Given the description of an element on the screen output the (x, y) to click on. 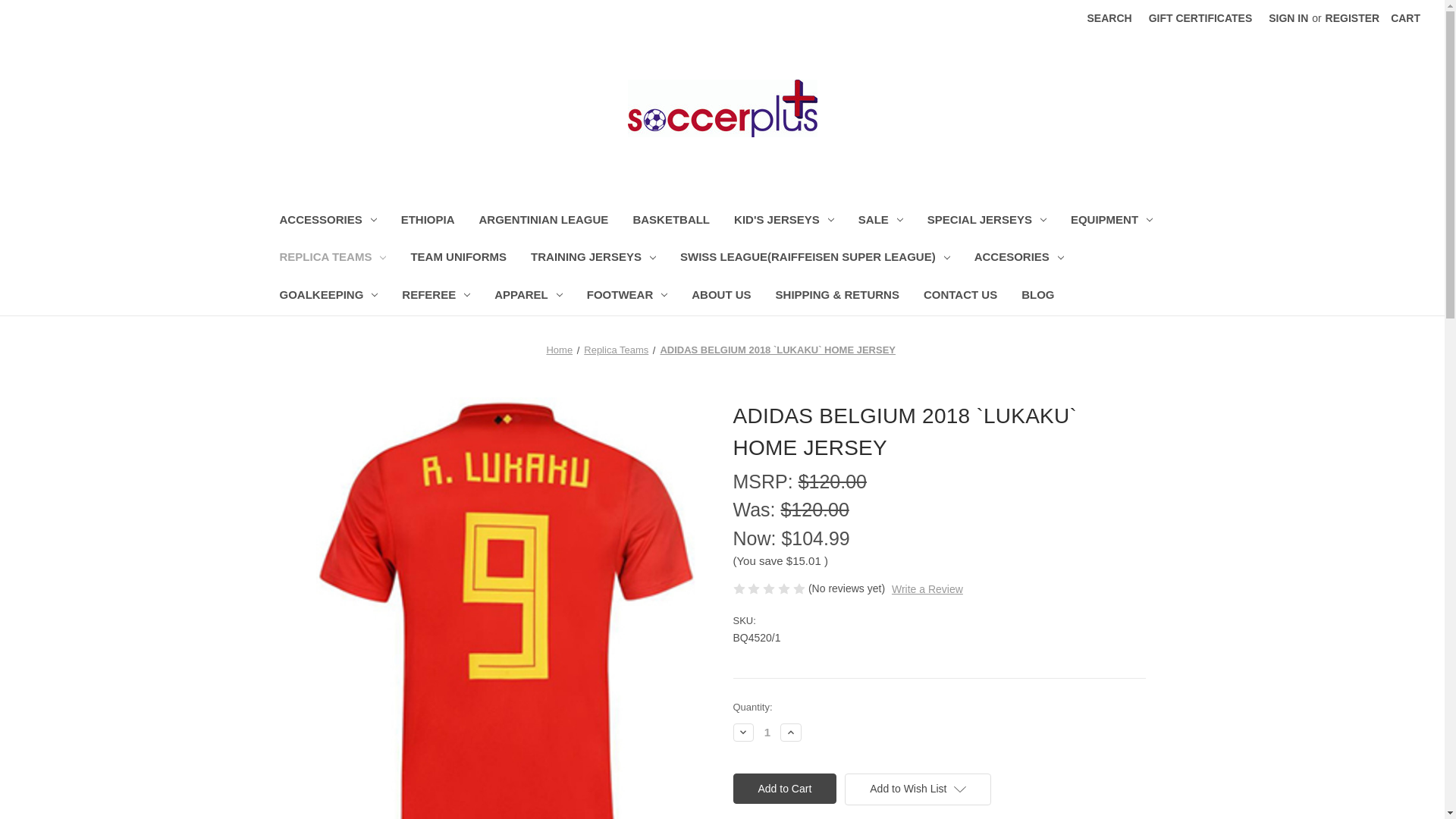
1 (767, 731)
SALE (880, 221)
ACCESSORIES (327, 221)
KID'S JERSEYS (783, 221)
Add to Cart (783, 788)
Soccer Plus (721, 108)
GIFT CERTIFICATES (1200, 18)
BASKETBALL (671, 221)
REPLICA TEAMS (331, 258)
ARGENTINIAN LEAGUE (544, 221)
SPECIAL JERSEYS (986, 221)
EQUIPMENT (1111, 221)
SIGN IN (1288, 18)
CART (1404, 18)
ETHIOPIA (427, 221)
